Given the description of an element on the screen output the (x, y) to click on. 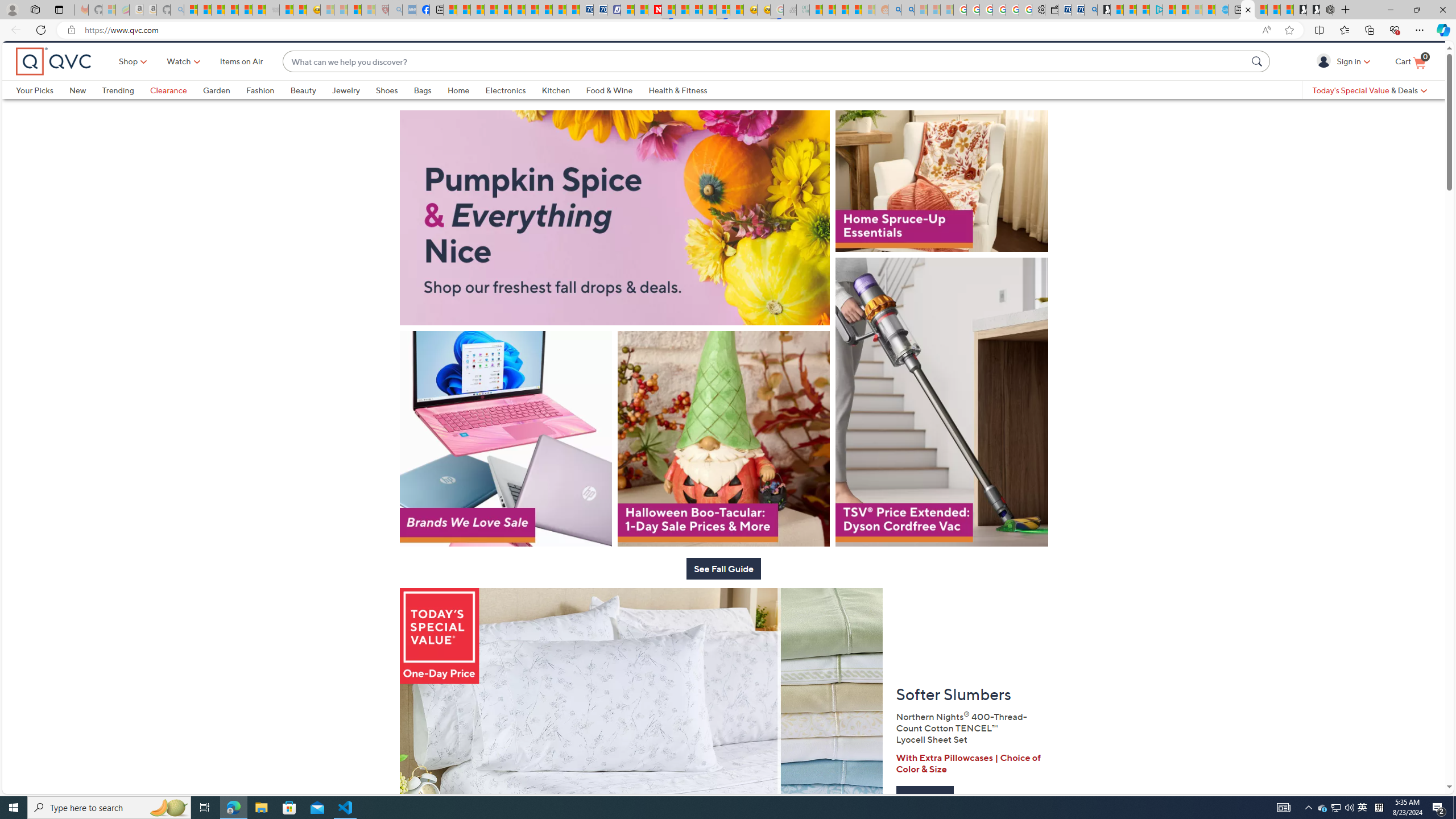
Beauty (310, 109)
Home | Sky Blue Bikes - Sky Blue Bikes (1221, 9)
QVC home (53, 80)
Home Spruce-Up Essentials (941, 215)
Health & Fitness (677, 109)
Climate Damage Becomes Too Severe To Reverse (490, 9)
